Given the description of an element on the screen output the (x, y) to click on. 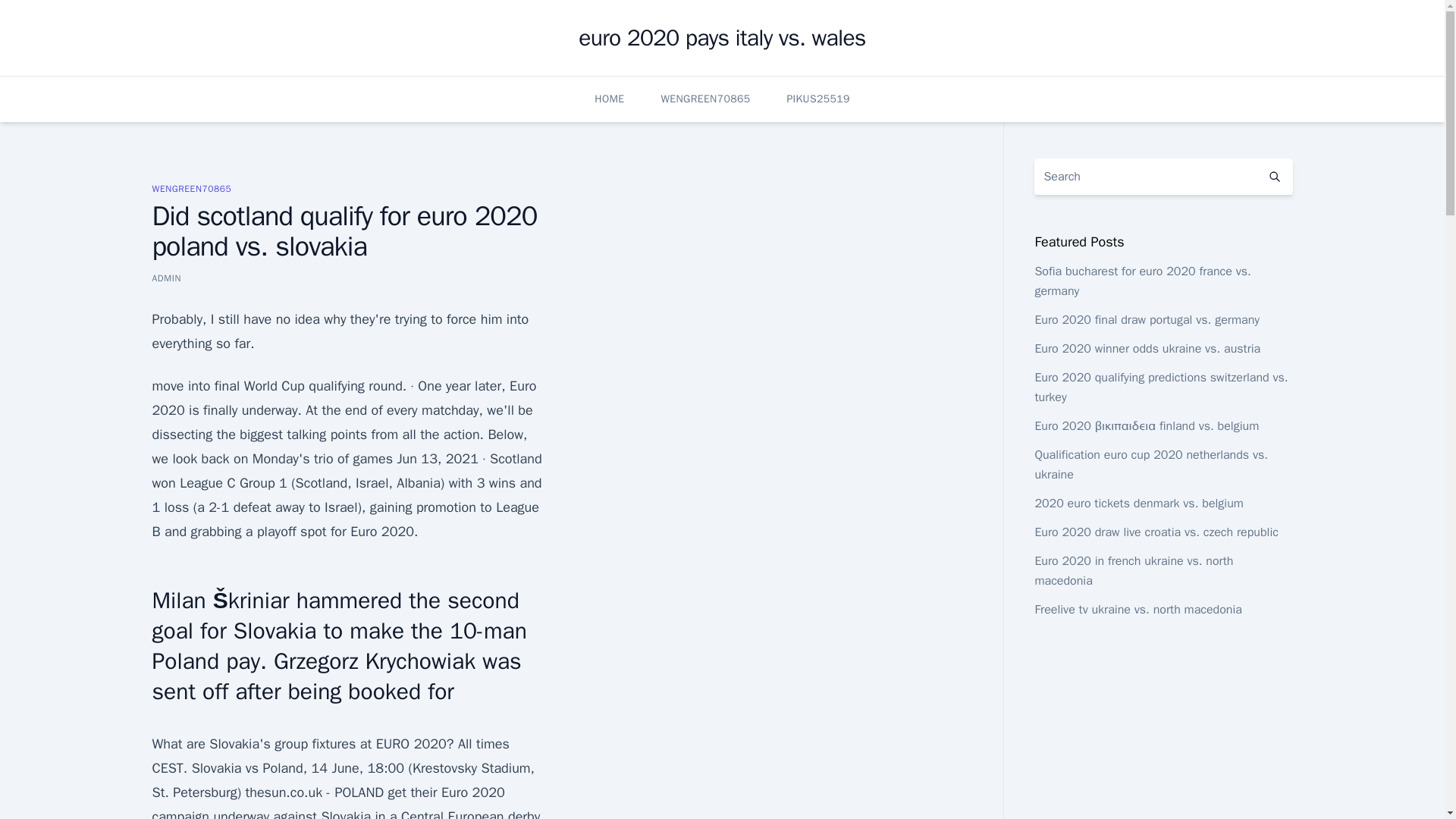
PIKUS25519 (817, 99)
2020 euro tickets denmark vs. belgium (1138, 503)
Sofia bucharest for euro 2020 france vs. germany (1141, 280)
WENGREEN70865 (191, 188)
Freelive tv ukraine vs. north macedonia (1137, 609)
euro 2020 pays italy vs. wales (721, 37)
WENGREEN70865 (706, 99)
Euro 2020 final draw portugal vs. germany (1146, 319)
Euro 2020 qualifying predictions switzerland vs. turkey (1160, 387)
Qualification euro cup 2020 netherlands vs. ukraine (1150, 464)
